Given the description of an element on the screen output the (x, y) to click on. 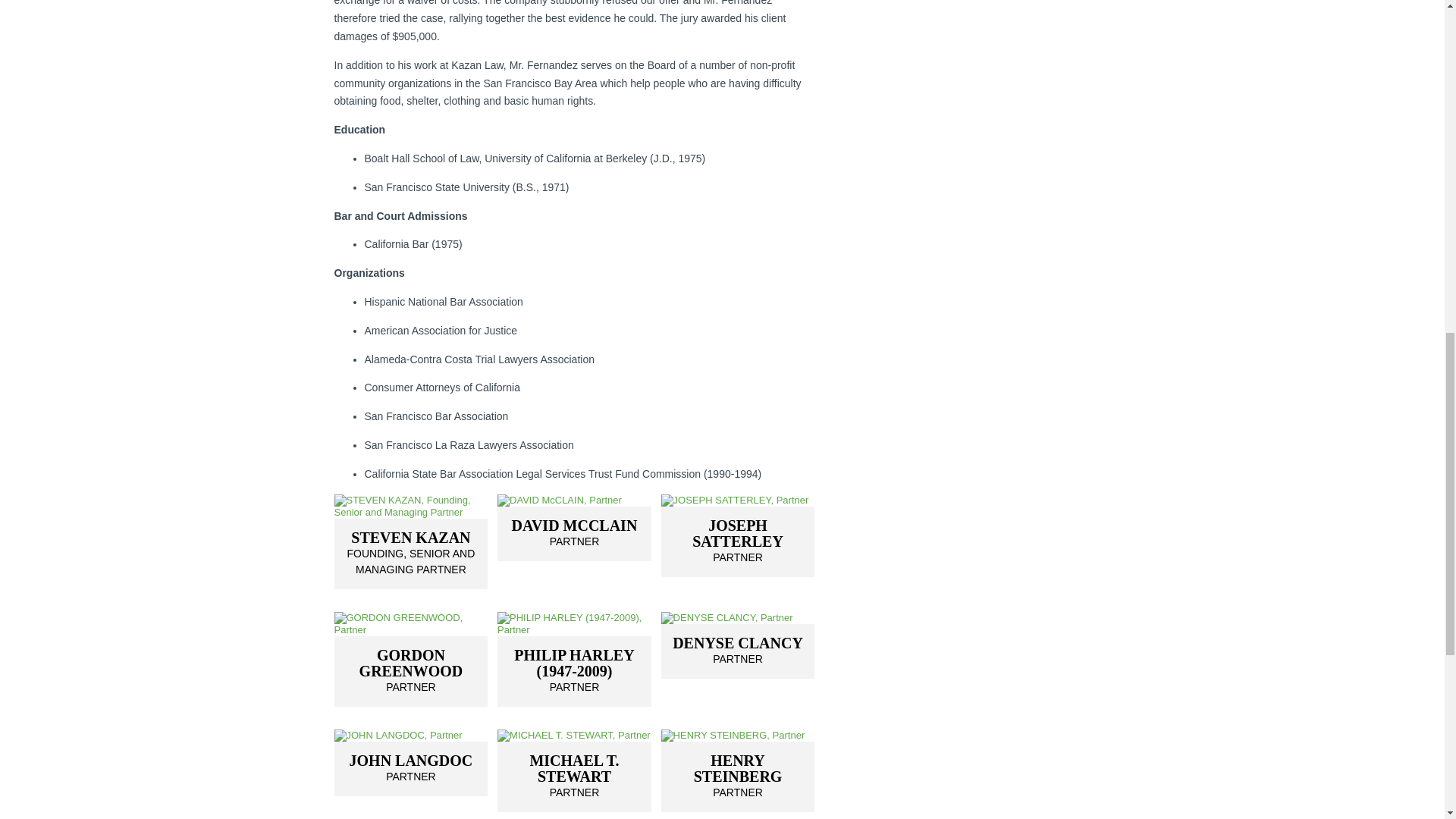
DAVID McCLAIN, Partner (573, 500)
DENYSE CLANCY, Partner (738, 616)
JOHN LANGDOC, Partner (410, 553)
STEVEN KAZAN, Founding, Senior and Managing Partner (410, 769)
GORDON GREENWOOD, Partner (410, 553)
MICHAEL T. STEWART, Partner (410, 670)
GORDON GREENWOOD, Partner (573, 777)
DENYSE CLANCY, Partner (410, 622)
MICHAEL T. STEWART, Partner (738, 650)
JOHN LANGDOC, Partner (573, 735)
JOSEPH SATTERLEY, Partner (410, 735)
DAVID McCLAIN, Partner (573, 533)
JOSEPH SATTERLEY, Partner (738, 500)
